Given the description of an element on the screen output the (x, y) to click on. 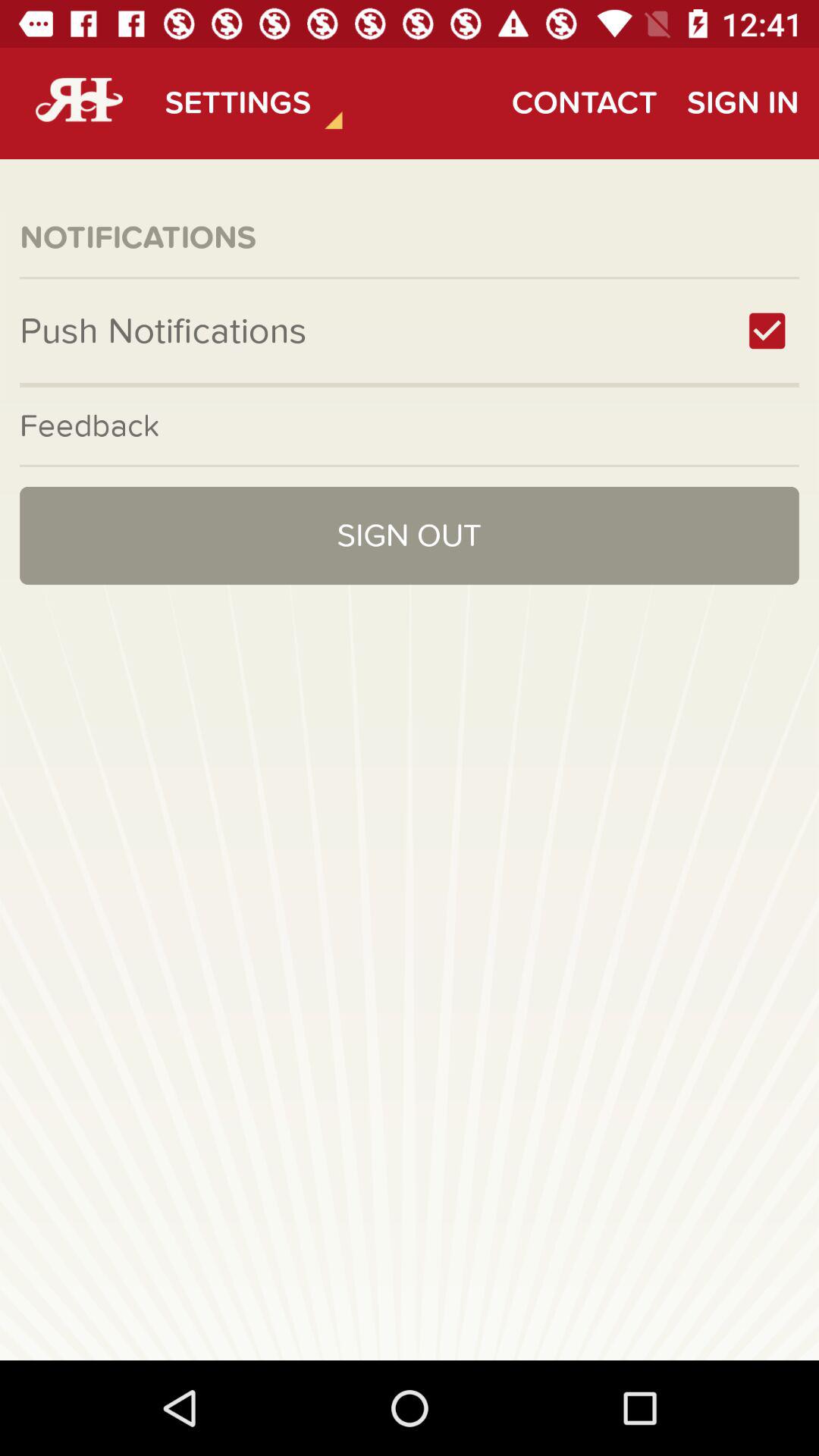
tap item to the right of contact item (743, 103)
